Given the description of an element on the screen output the (x, y) to click on. 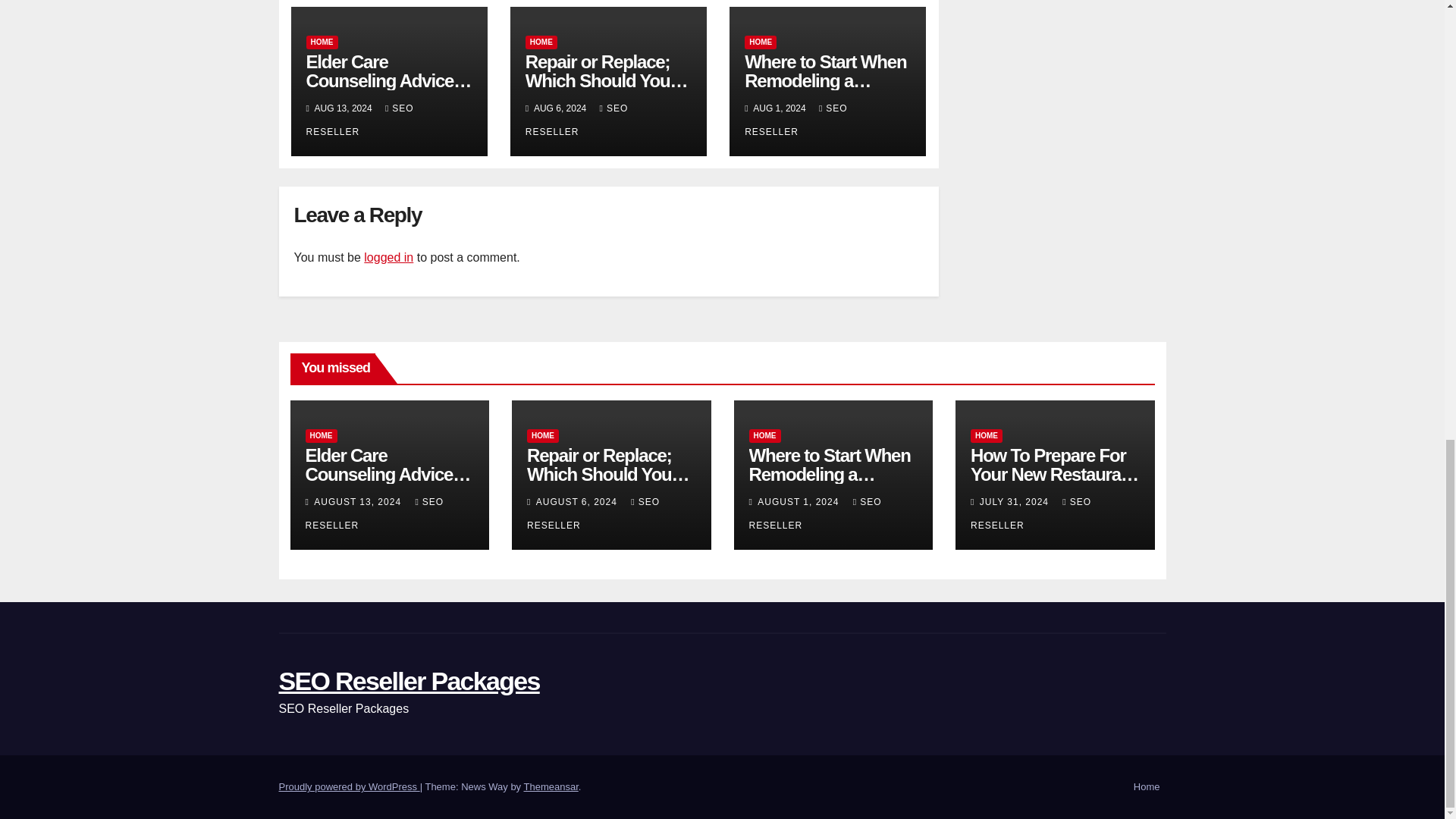
SEO RESELLER (795, 120)
AUGUST 13, 2024 (359, 501)
HOME (320, 436)
SEO RESELLER (576, 120)
Home (1146, 786)
logged in (388, 256)
SEO RESELLER (359, 120)
HOME (760, 42)
HOME (321, 42)
HOME (541, 42)
